Given the description of an element on the screen output the (x, y) to click on. 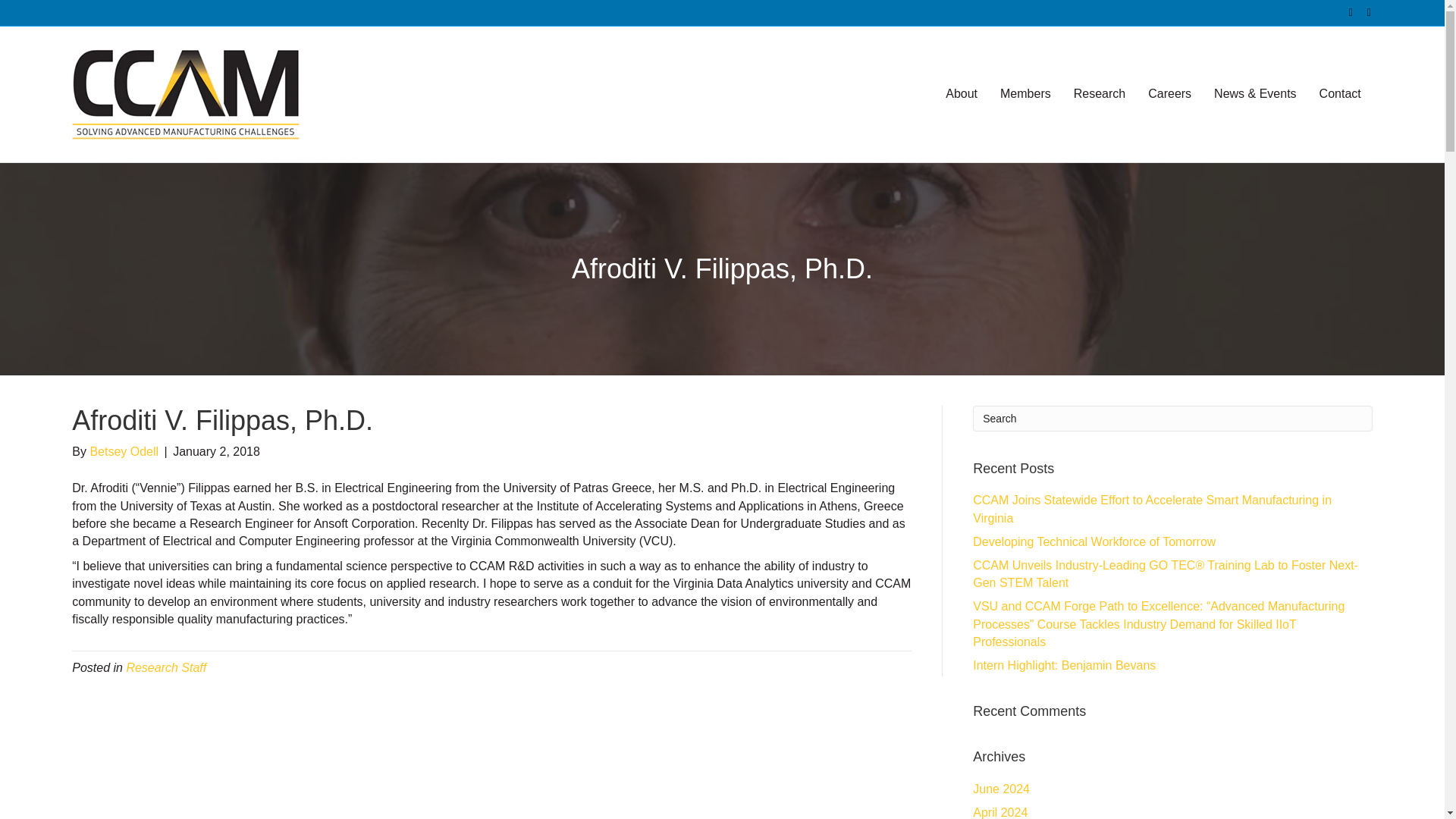
Twitter (1343, 11)
Type and press Enter to search. (1171, 418)
Research (1099, 93)
About (961, 93)
Linkedin (1361, 11)
Search (1171, 418)
Members (1025, 93)
Search (1171, 418)
